Given the description of an element on the screen output the (x, y) to click on. 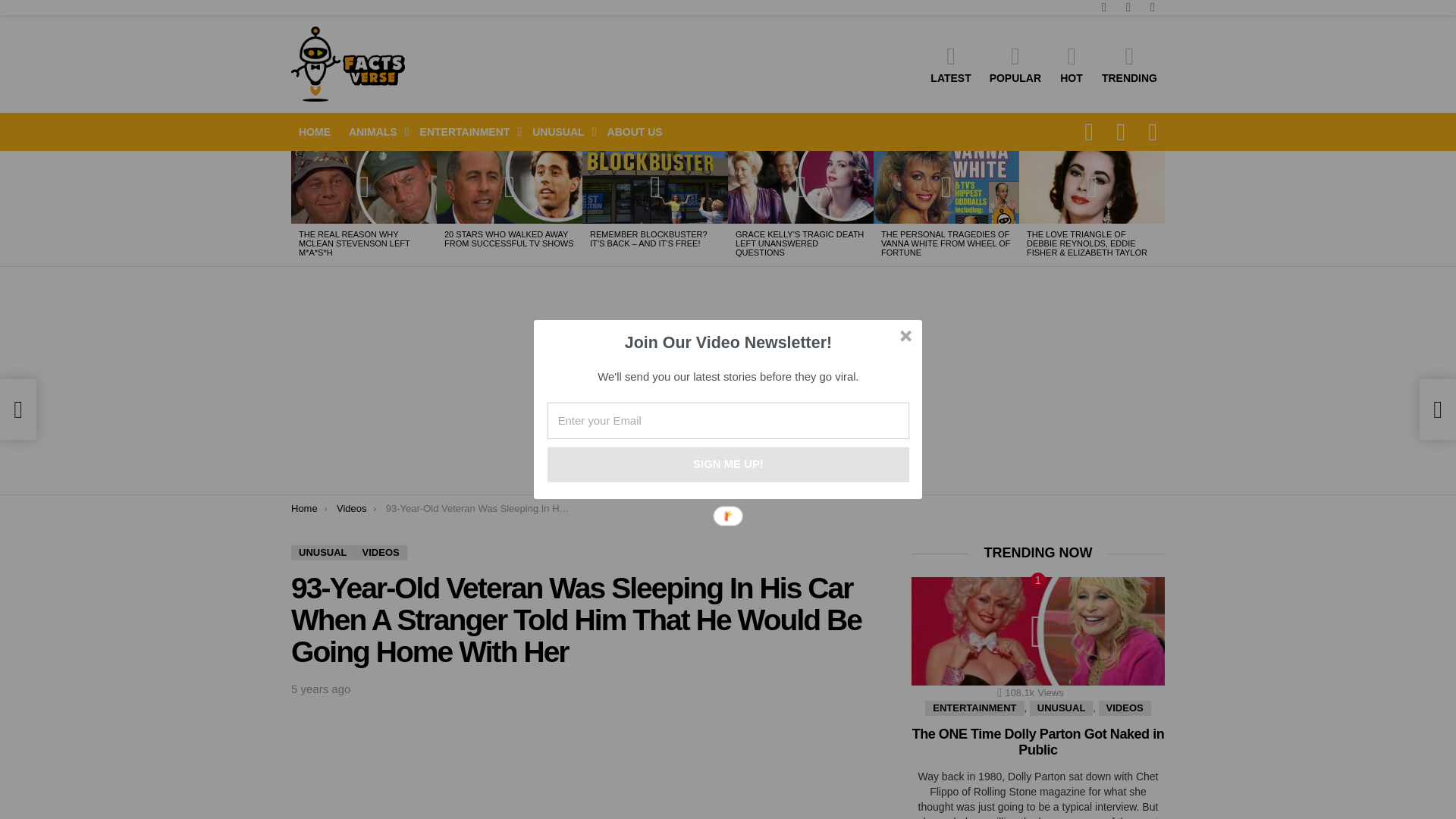
ENTERTAINMENT (467, 131)
HOT (1070, 64)
TRENDING (1129, 64)
HOME (314, 131)
Facebook (1128, 7)
POPULAR (1014, 64)
YouTube (1104, 7)
ANIMALS (374, 131)
Twitter (1152, 7)
LATEST (950, 64)
